Given the description of an element on the screen output the (x, y) to click on. 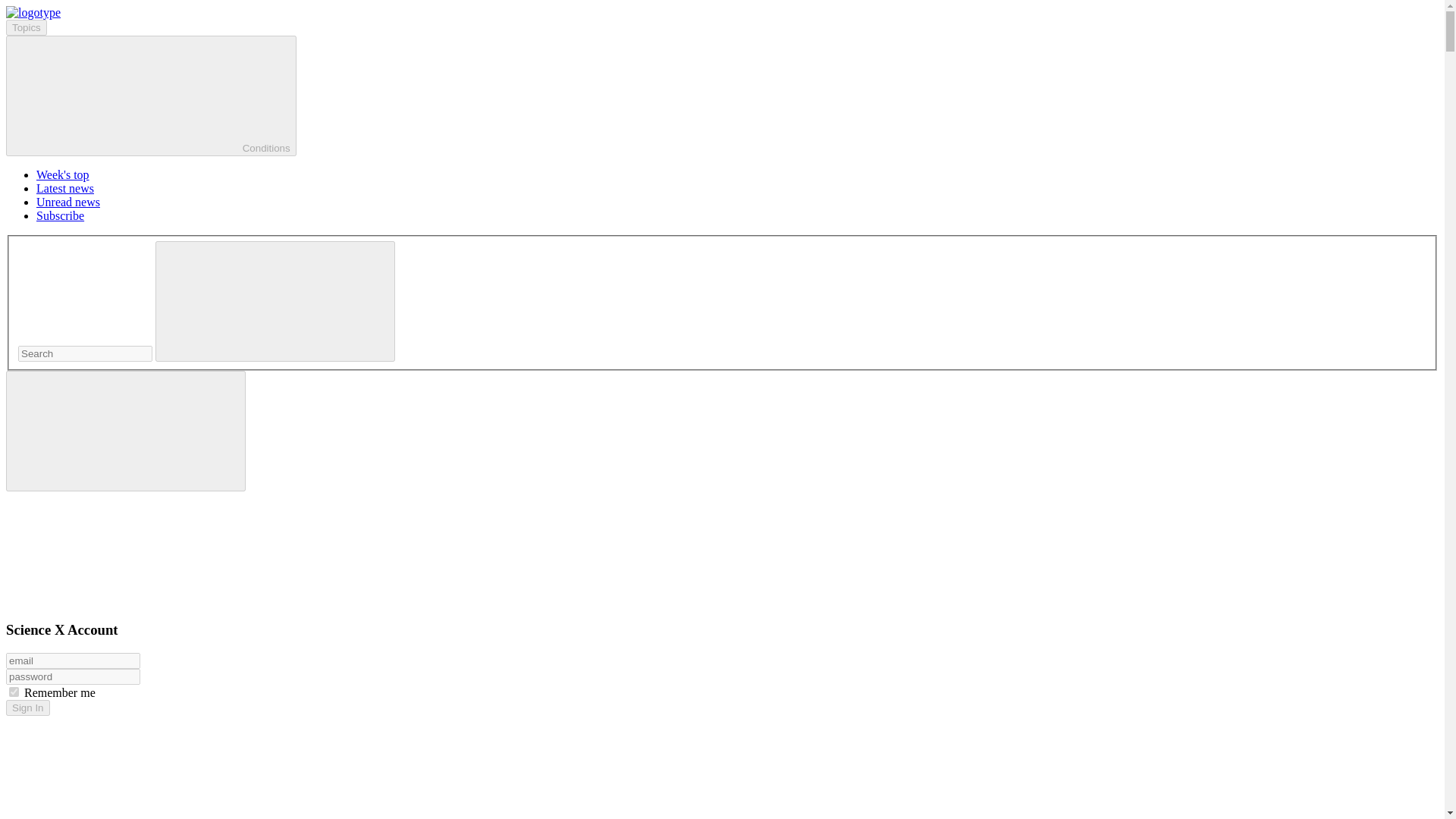
Latest news (65, 187)
on (13, 691)
Topics (25, 27)
Subscribe (60, 215)
Sign In (27, 707)
Week's top (62, 174)
Conditions (151, 96)
Unread news (68, 201)
